Given the description of an element on the screen output the (x, y) to click on. 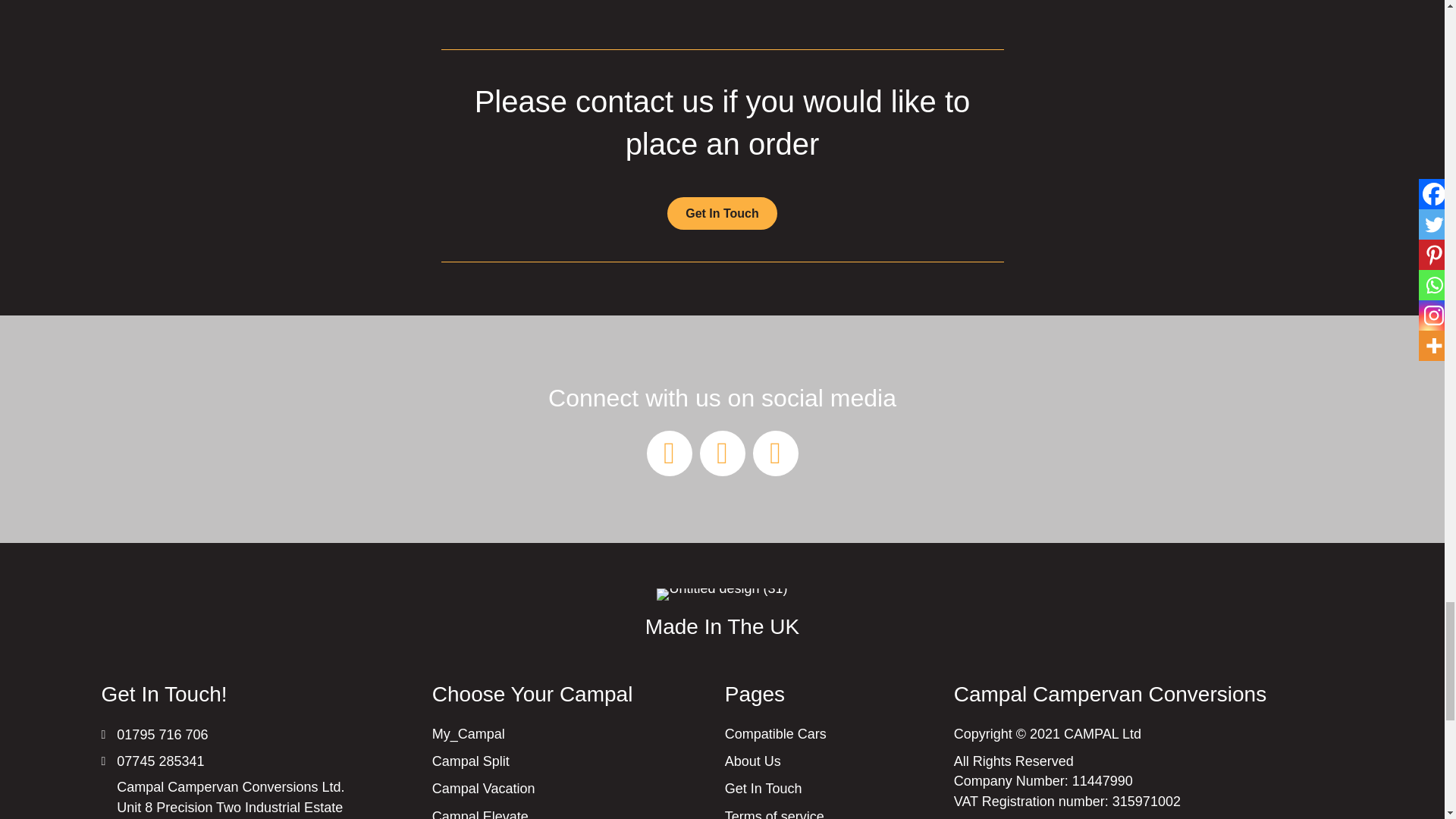
01795 716 706 (162, 734)
Get In Touch (721, 212)
07745 285341 (159, 761)
